Given the description of an element on the screen output the (x, y) to click on. 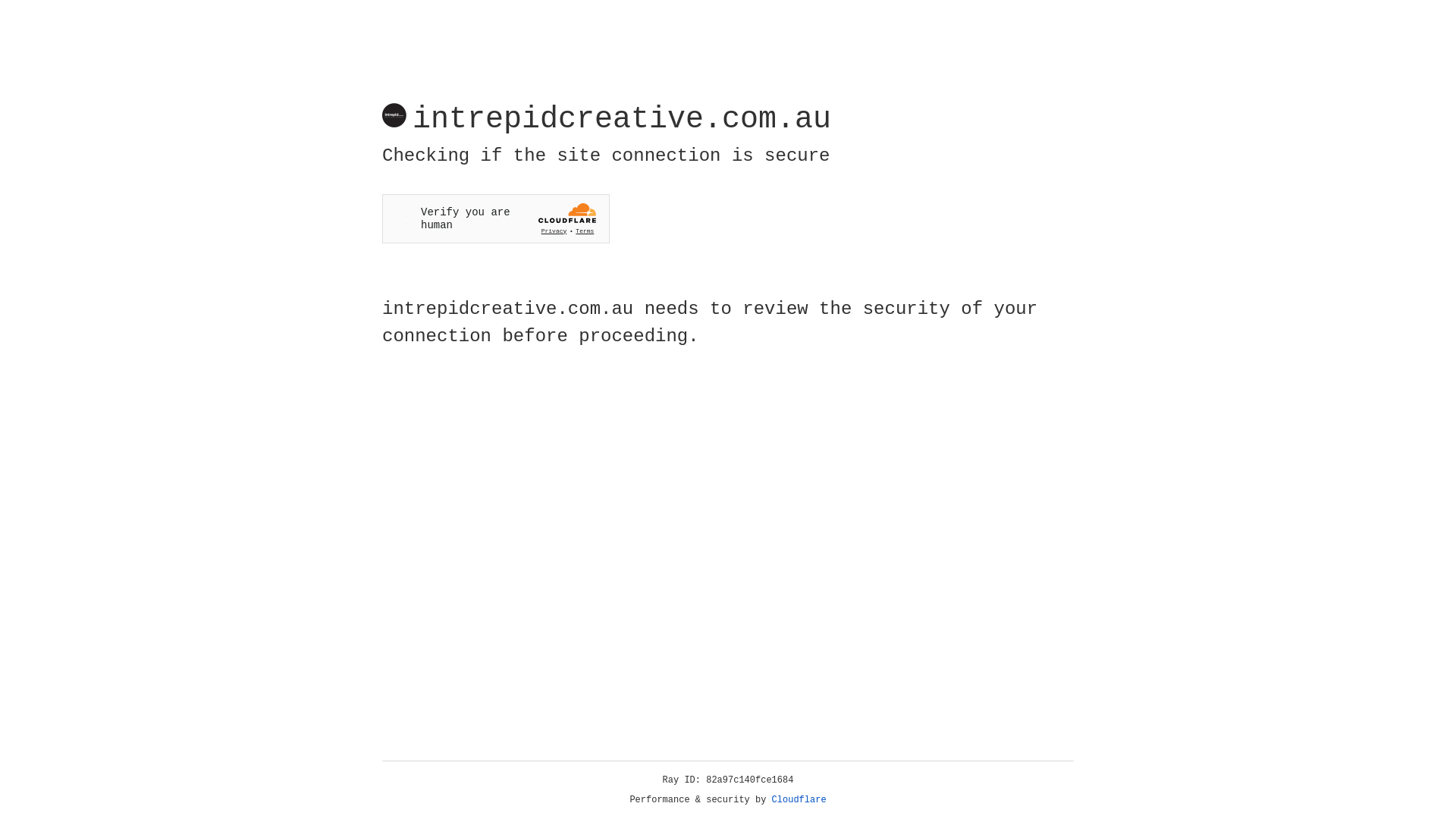
Widget containing a Cloudflare security challenge Element type: hover (495, 218)
Cloudflare Element type: text (798, 799)
